Given the description of an element on the screen output the (x, y) to click on. 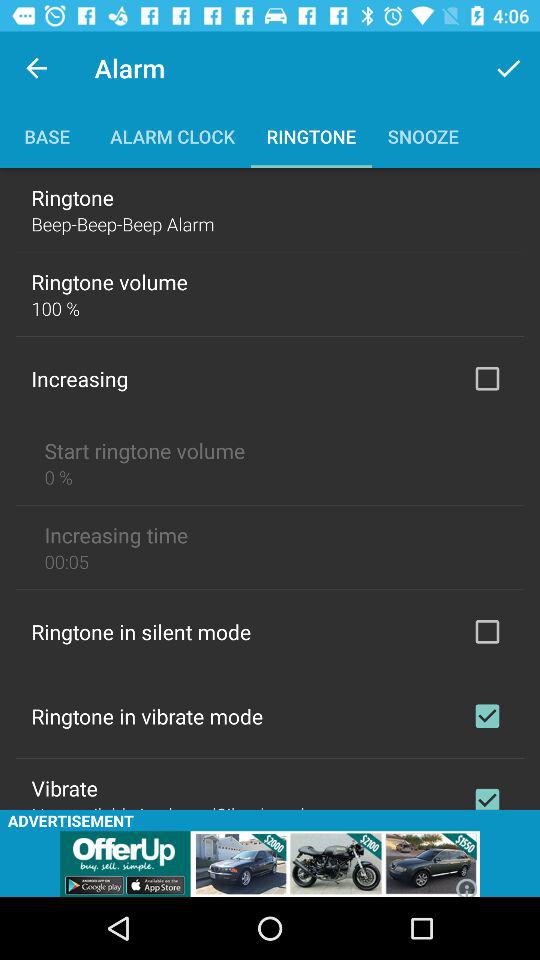
toggle ringtone in silent mode (487, 631)
